Given the description of an element on the screen output the (x, y) to click on. 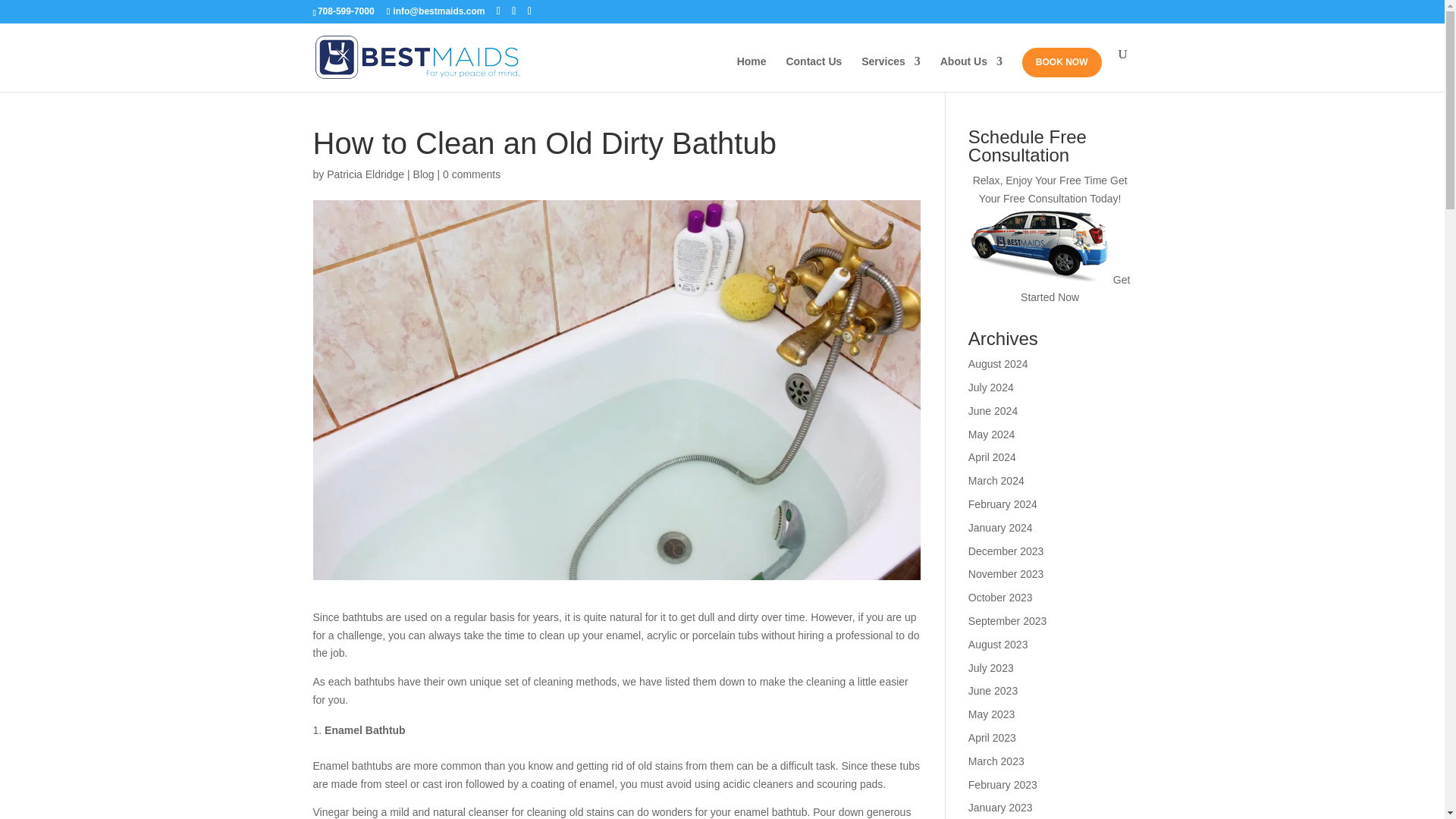
Get Started Now (1074, 288)
July 2024 (990, 387)
December 2023 (1005, 551)
0 comments (471, 174)
Patricia Eldridge (365, 174)
Services (890, 73)
April 2024 (992, 457)
Posts by Patricia Eldridge (365, 174)
About Us (971, 73)
January 2024 (1000, 527)
